Given the description of an element on the screen output the (x, y) to click on. 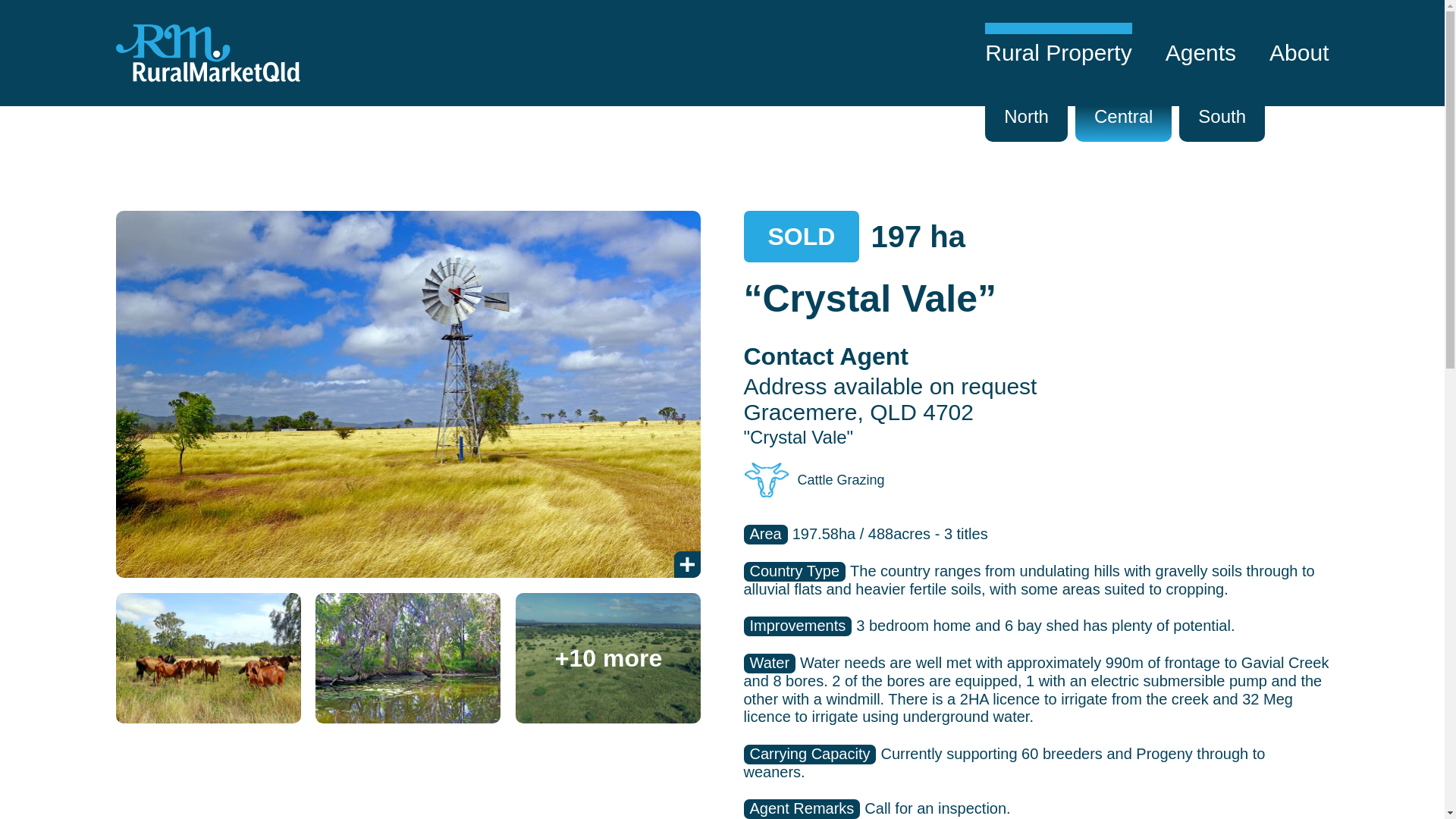
Rural Property (1058, 52)
Central (1123, 115)
South (1222, 115)
Agents (1200, 52)
About (1298, 52)
North (1026, 115)
